Given the description of an element on the screen output the (x, y) to click on. 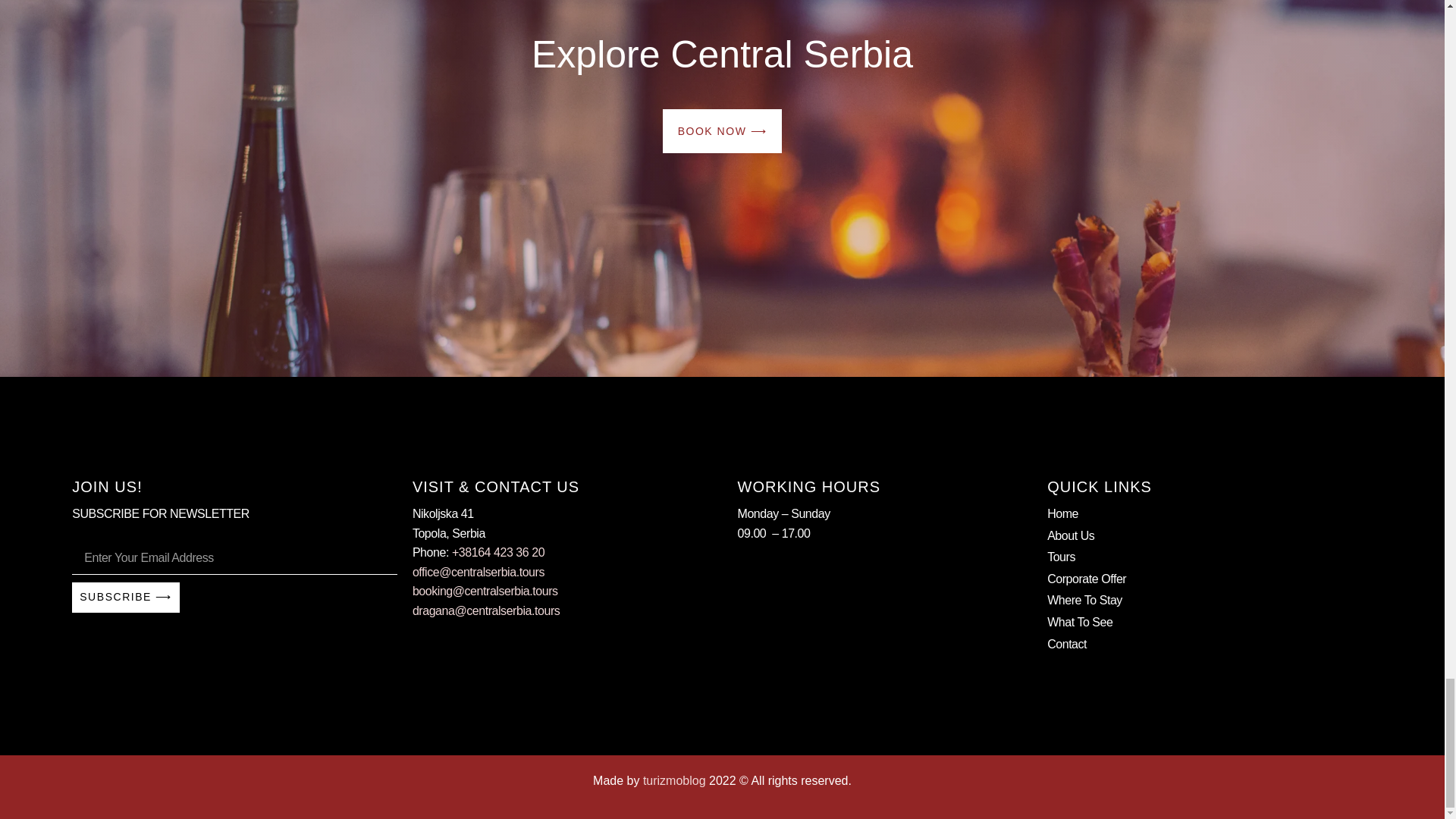
About Us (1209, 536)
Where To Stay (1209, 600)
Tours (1209, 557)
Contact (1209, 644)
Corporate Offer (1209, 578)
What To See (1209, 622)
Home (1209, 514)
turizmoblog (674, 780)
